Given the description of an element on the screen output the (x, y) to click on. 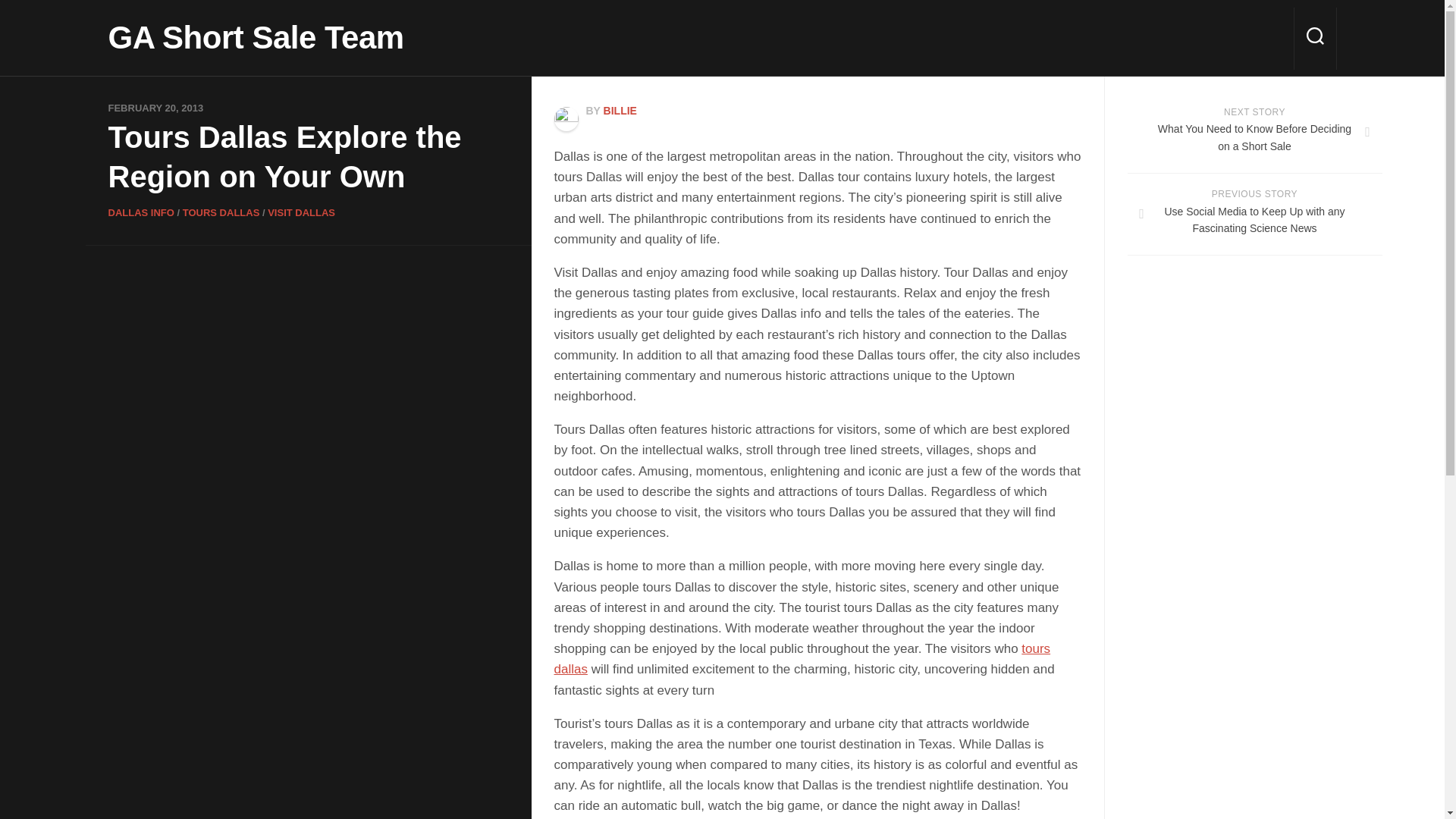
DALLAS INFO (140, 212)
Posts by Billie (620, 110)
tours dallas (801, 658)
Dallas events (801, 658)
TOURS DALLAS (221, 212)
VISIT DALLAS (300, 212)
BILLIE (620, 110)
GA Short Sale Team (255, 37)
